Given the description of an element on the screen output the (x, y) to click on. 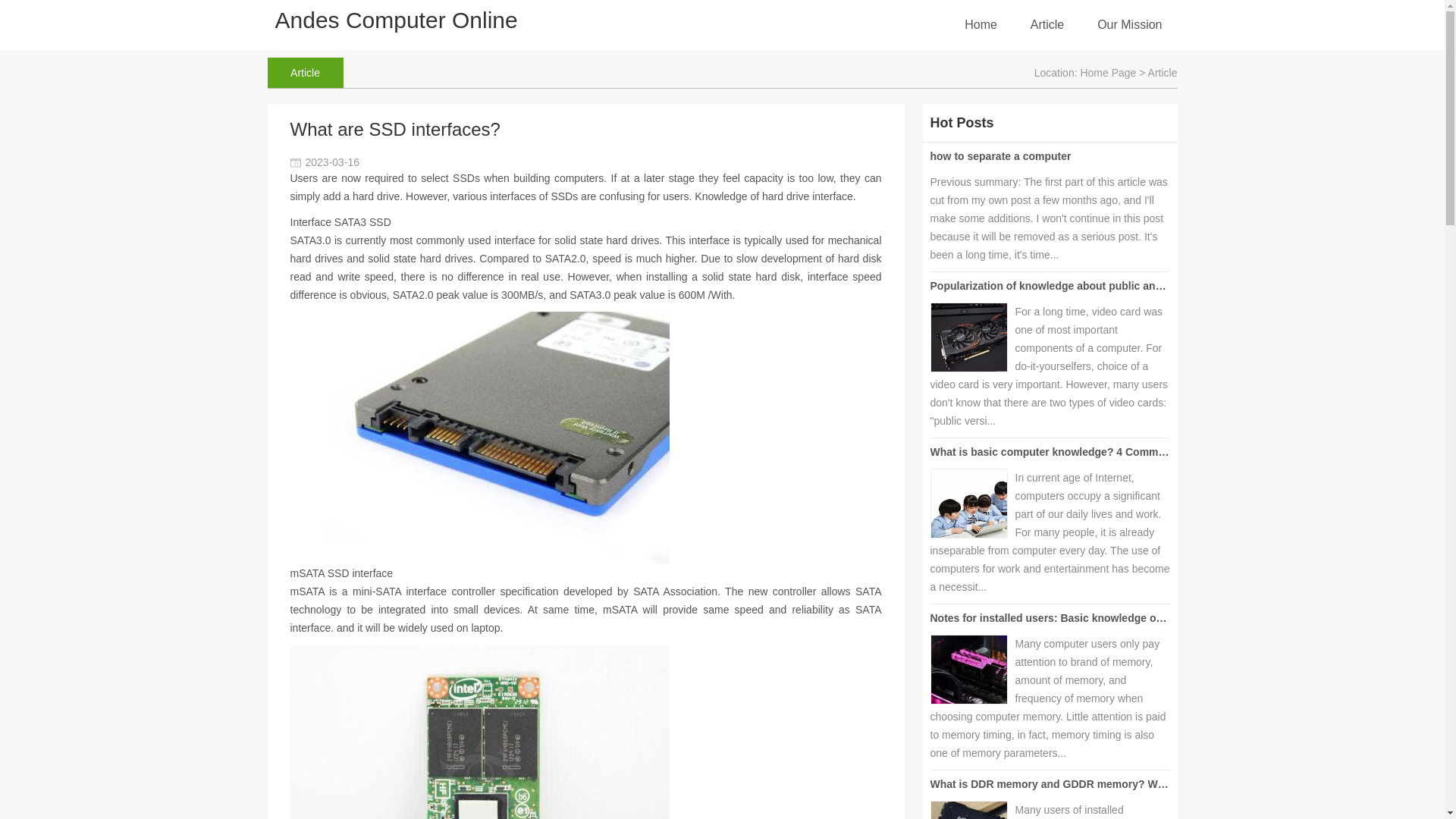
What is DDR memory and GDDR memory? What is difference? (1087, 784)
Article (1047, 24)
how to separate a computer (1000, 155)
Article (304, 72)
Andes Computer Online (395, 19)
Our Mission (1129, 24)
Home (980, 24)
